Given the description of an element on the screen output the (x, y) to click on. 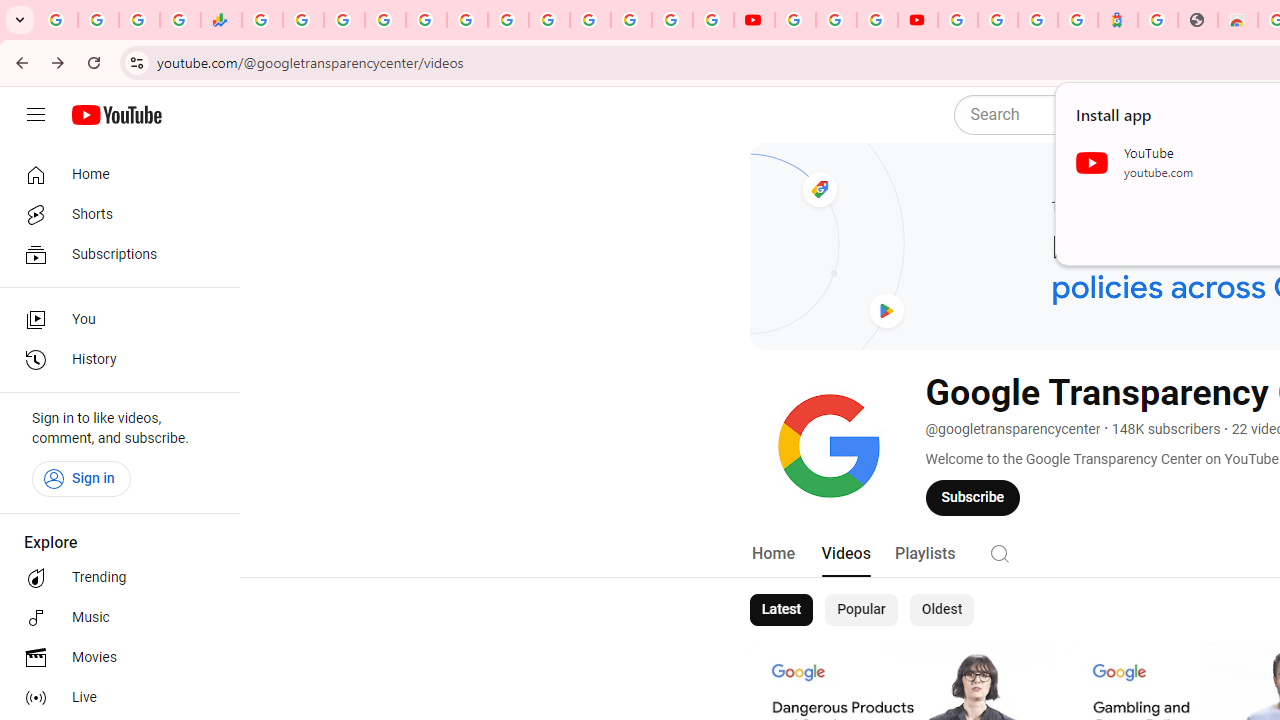
YouTube (548, 20)
Live (113, 697)
Music (113, 617)
YouTube (753, 20)
Subscriptions (113, 254)
Latest (780, 609)
